Given the description of an element on the screen output the (x, y) to click on. 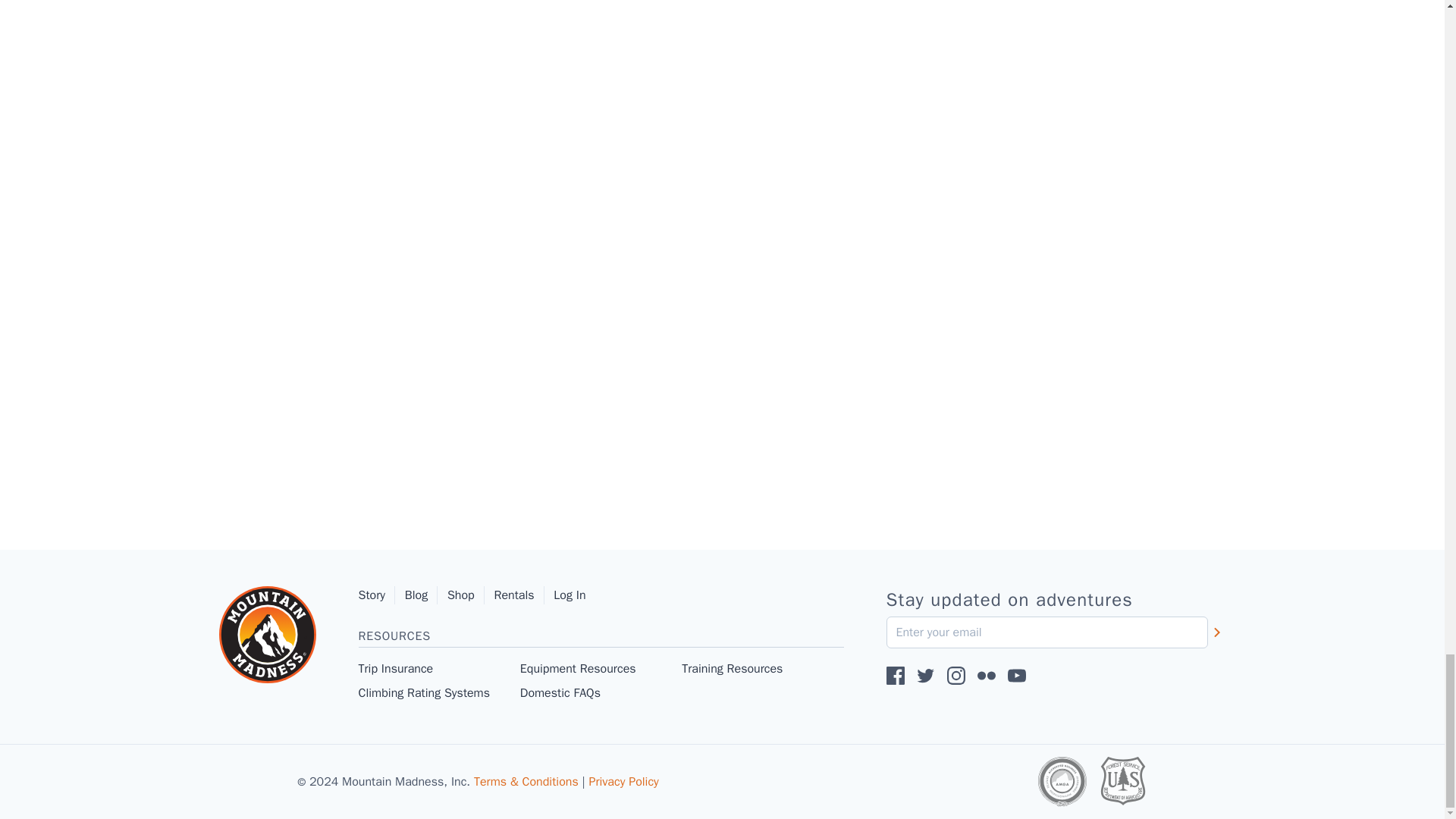
Rentals (519, 595)
Follow us on Twitter (924, 675)
Blog (421, 595)
Trip Insurance (438, 669)
Like us on Facebook (894, 675)
Submit (1216, 632)
Equipment Resources (600, 669)
Climbing Rating Systems (438, 692)
Shop (465, 595)
Training Resources (762, 669)
